Given the description of an element on the screen output the (x, y) to click on. 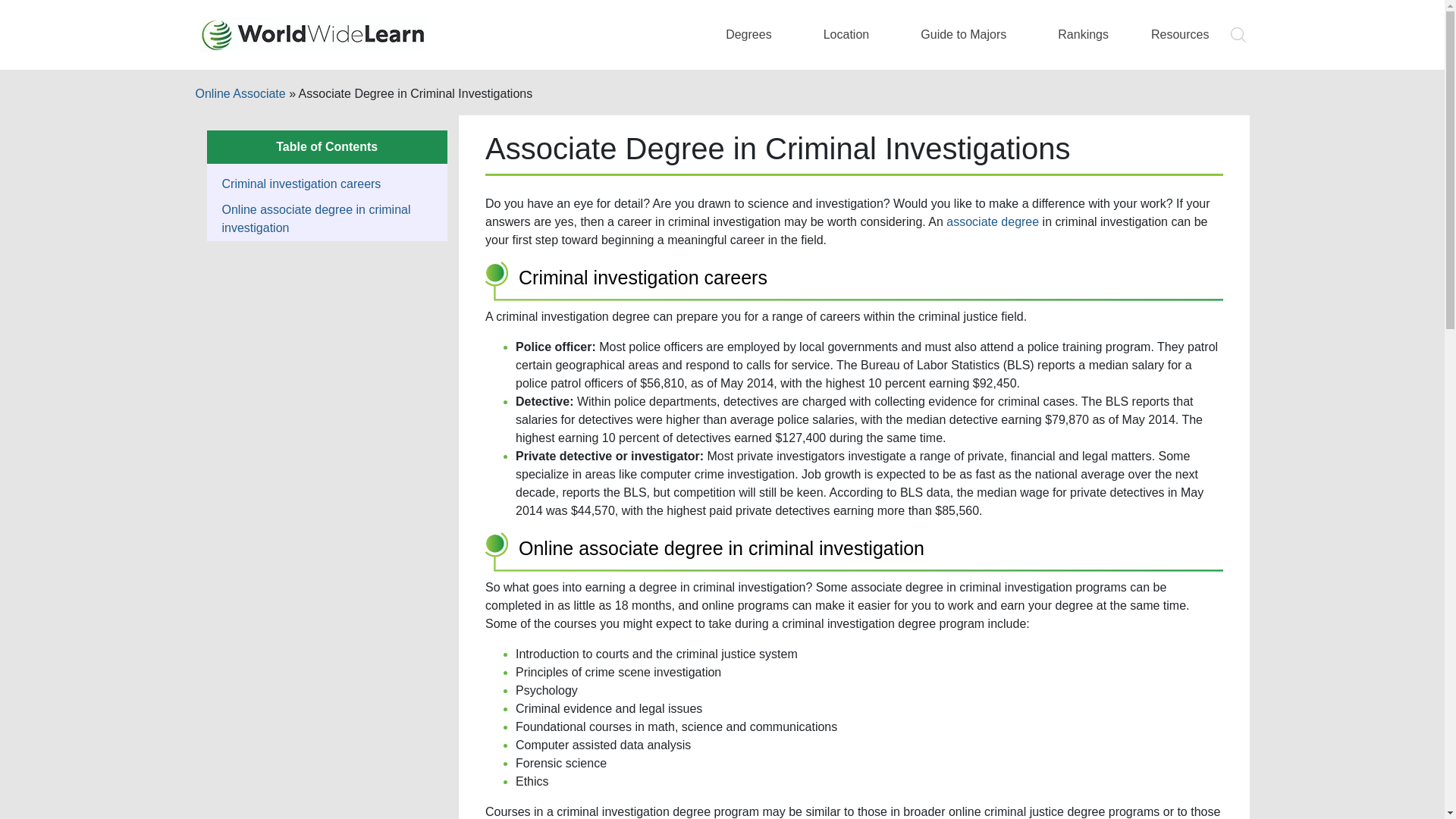
Guide to Majors (968, 34)
Location (850, 34)
Online Associate (240, 92)
Degrees (753, 34)
Criminal investigation careers (300, 183)
associate degree (992, 221)
Resources (1179, 34)
Location (850, 34)
Degrees (753, 34)
Online associate degree in criminal investigation (315, 218)
Rankings (1083, 34)
Guide to Majors (968, 34)
